Given the description of an element on the screen output the (x, y) to click on. 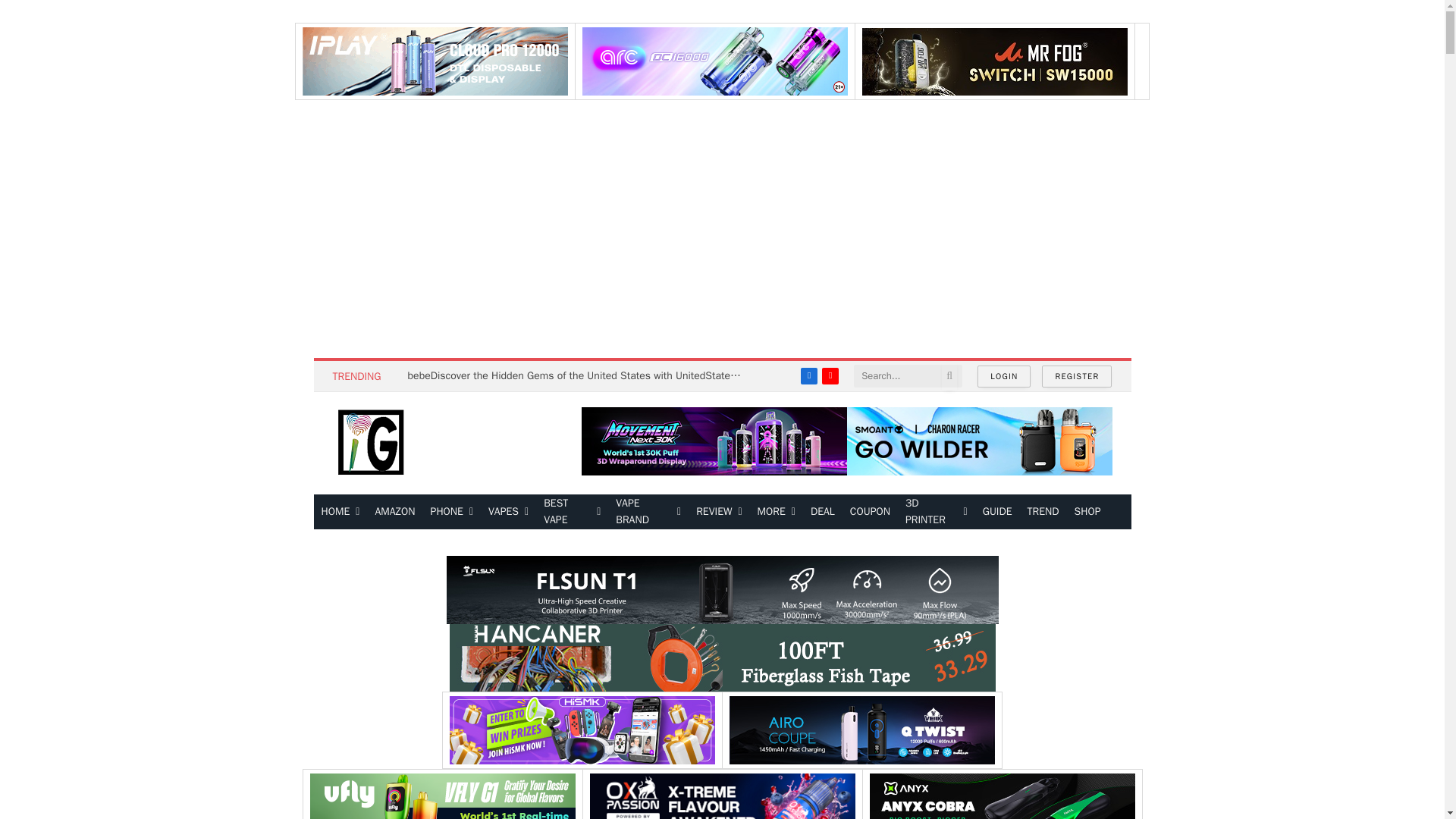
LOGIN (1003, 376)
Facebook (808, 375)
PHONE (451, 511)
YouTube (830, 375)
AMAZON (394, 511)
HOME (341, 511)
REGISTER (1077, 376)
